Given the description of an element on the screen output the (x, y) to click on. 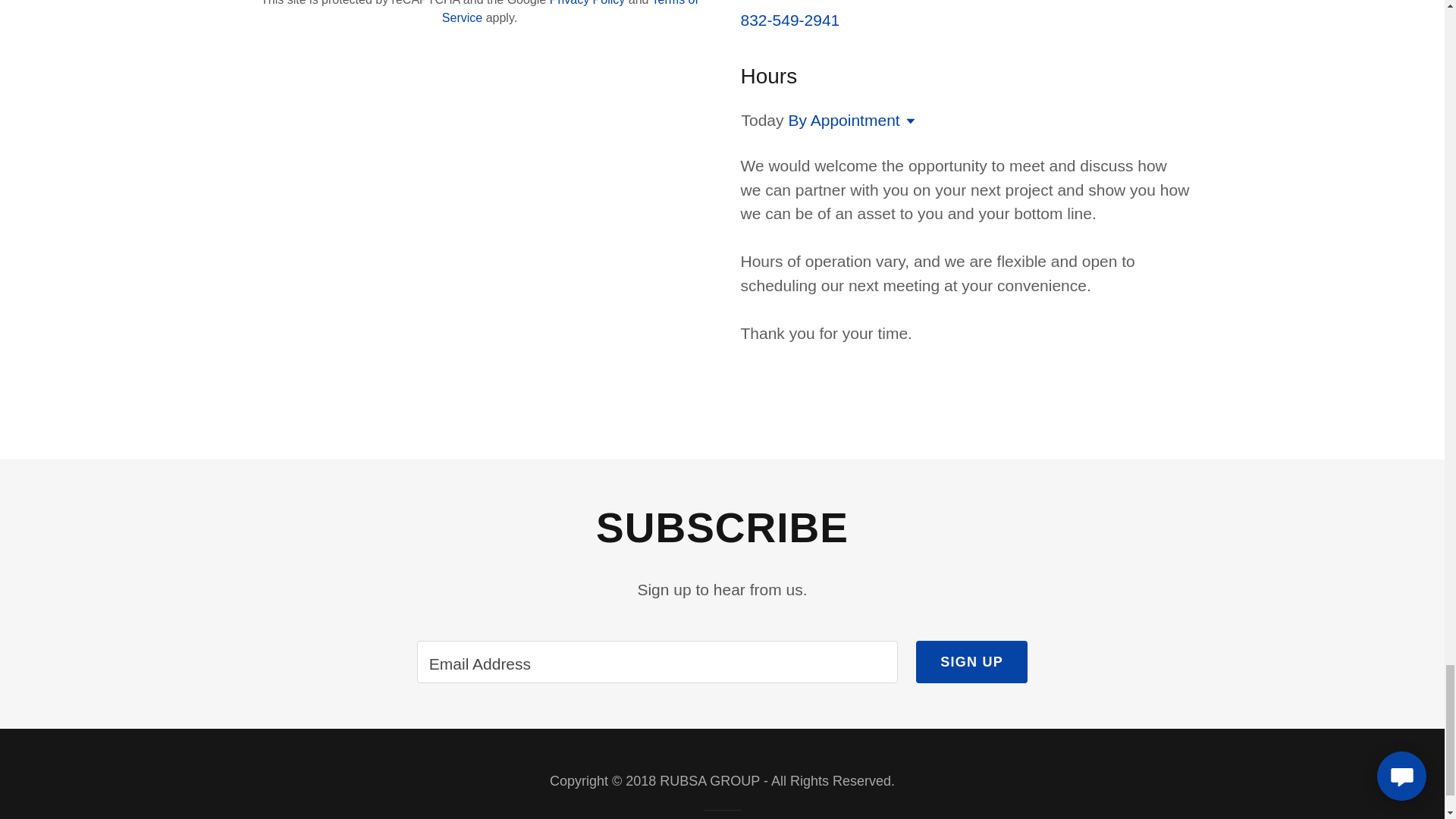
SIGN UP (971, 661)
Privacy Policy (588, 2)
832-549-2941 (789, 19)
Terms of Service (570, 12)
